Given the description of an element on the screen output the (x, y) to click on. 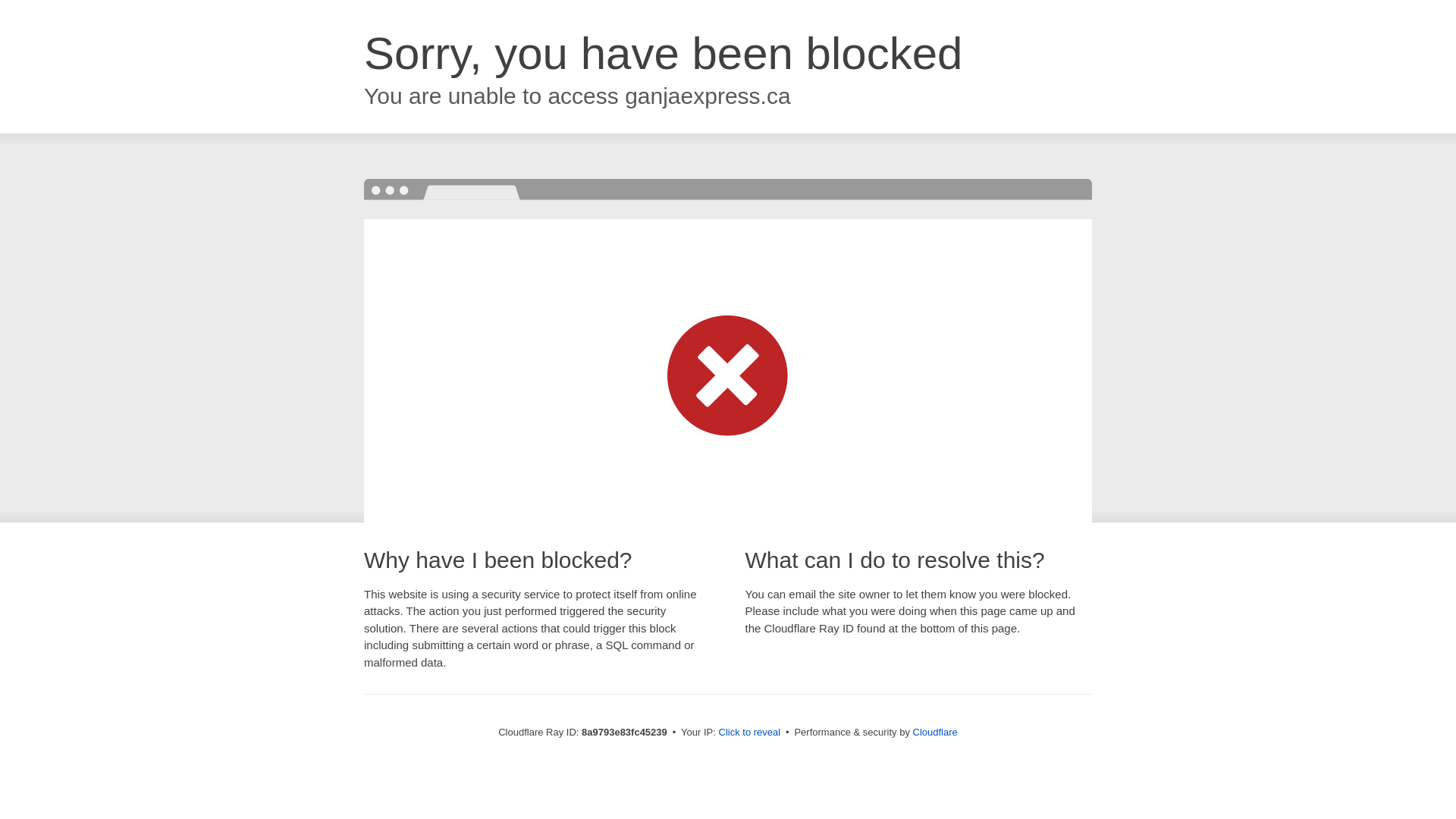
Cloudflare (935, 731)
Click to reveal (749, 732)
